Given the description of an element on the screen output the (x, y) to click on. 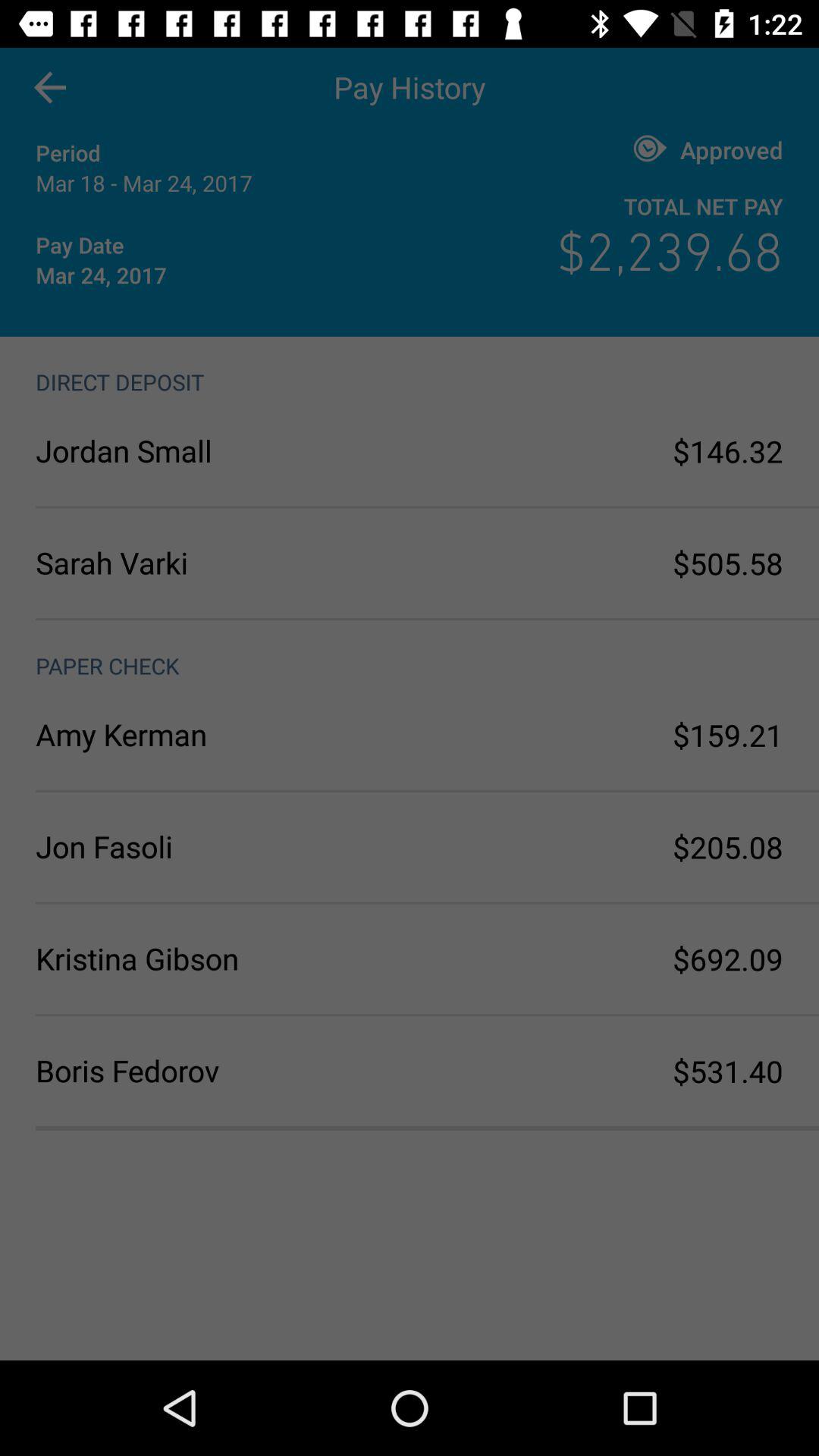
jump until the amy kerman app (222, 734)
